Given the description of an element on the screen output the (x, y) to click on. 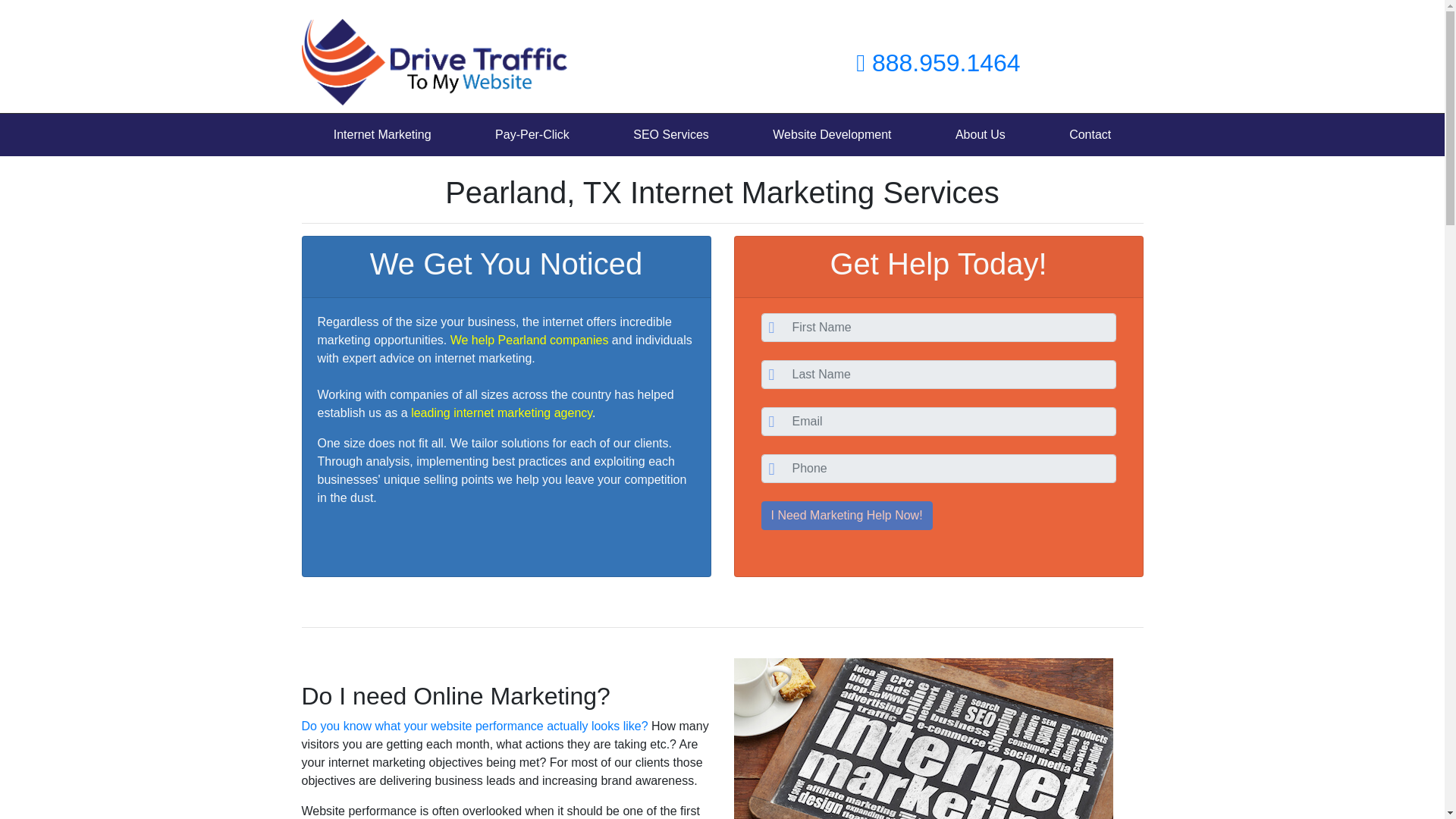
About Us (980, 134)
Website Development (831, 134)
Contact (1089, 134)
I Need Marketing Help Now! (847, 515)
888.959.1464 (938, 62)
We help Pearland companies (528, 339)
SEO Services (670, 134)
Internet Marketing (382, 134)
leading internet marketing agency (501, 412)
